Given the description of an element on the screen output the (x, y) to click on. 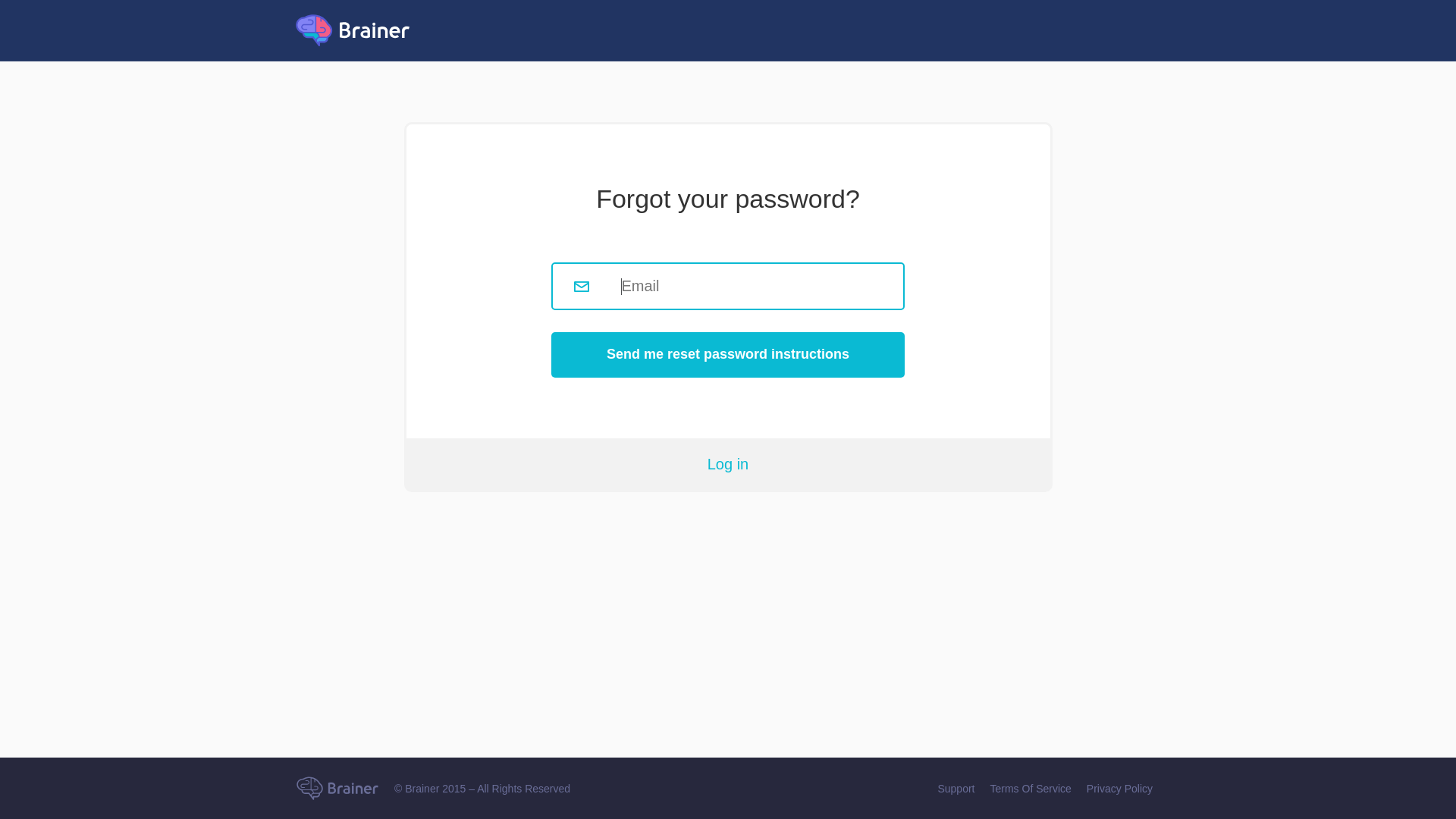
Log in Element type: text (728, 463)
Support Element type: text (955, 788)
Privacy Policy Element type: text (1119, 788)
Send me reset password instructions Element type: text (727, 354)
Terms Of Service Element type: text (1030, 788)
